Given the description of an element on the screen output the (x, y) to click on. 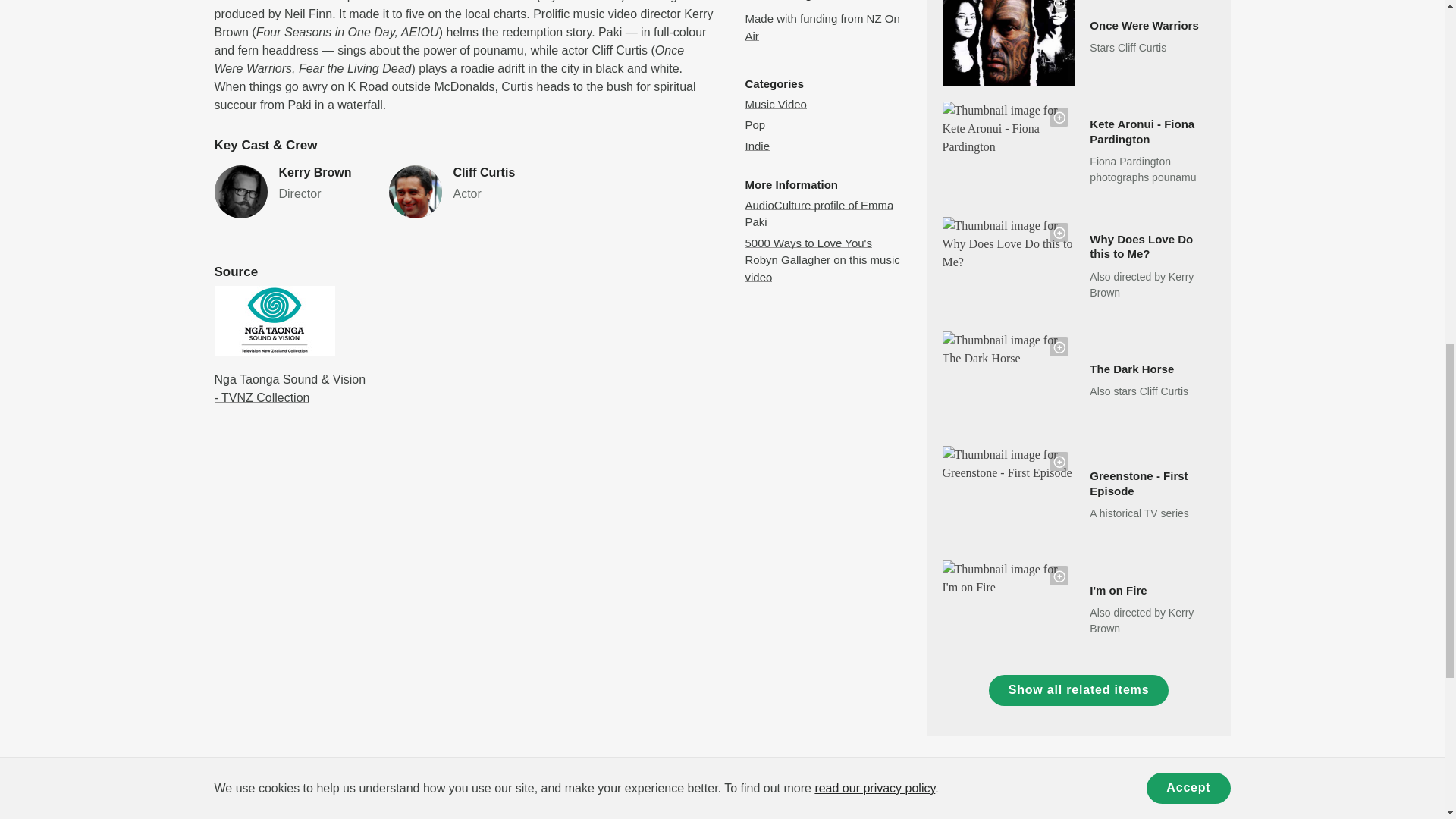
NZ On Air (821, 27)
AudioCulture profile of Emma Paki (818, 214)
Indie (757, 145)
Music Video (775, 103)
Pop (754, 124)
5000 Ways to Love You's Robyn Gallagher on this music video (289, 191)
